Given the description of an element on the screen output the (x, y) to click on. 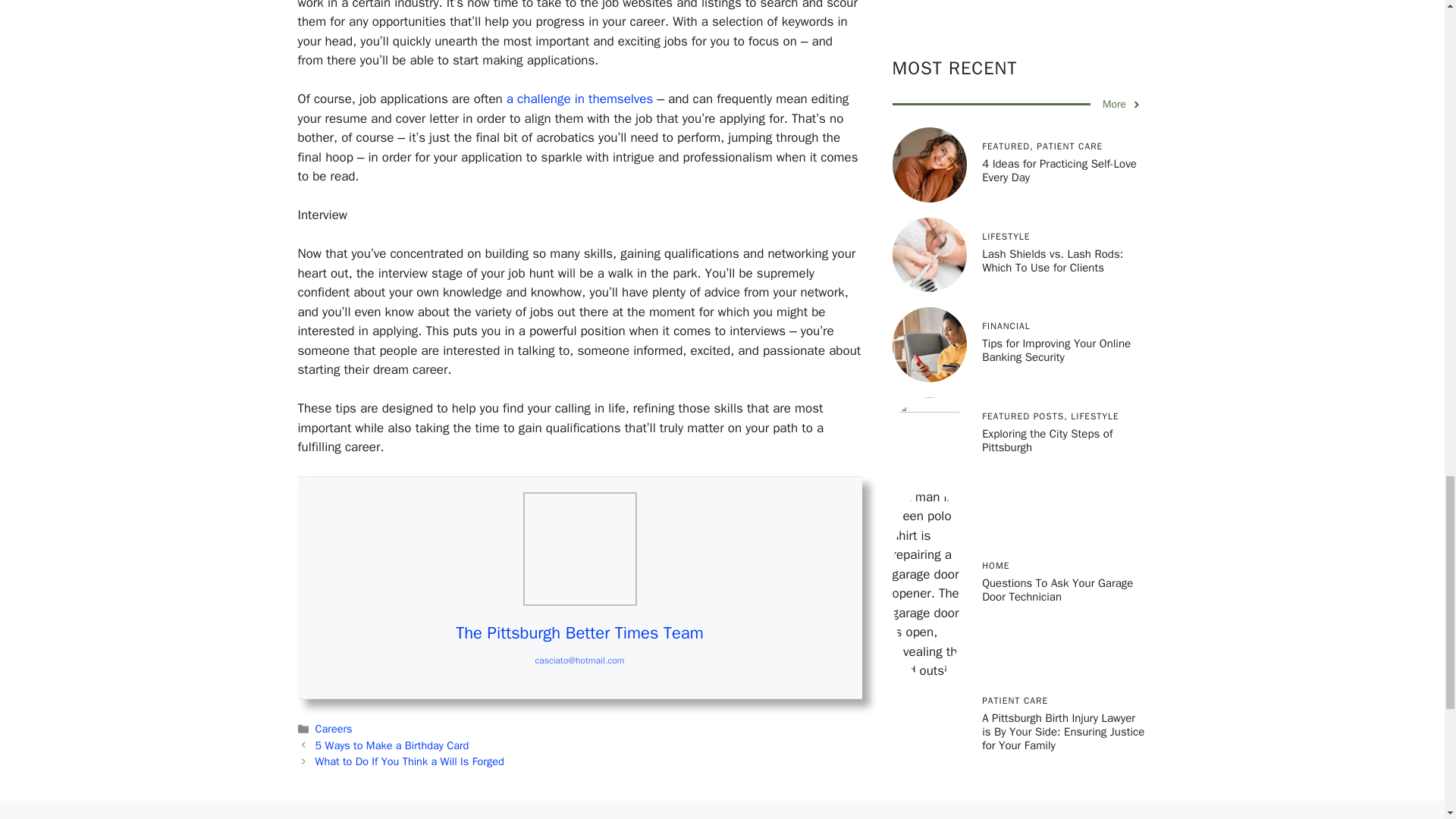
5 Ways to Make a Birthday Card (391, 745)
Careers (333, 728)
a challenge in themselves (579, 98)
What to Do If You Think a Will Is Forged (409, 761)
How to Work Towards a Fulfilling Career 1 (579, 549)
The Pittsburgh Better Times Team (579, 632)
